Given the description of an element on the screen output the (x, y) to click on. 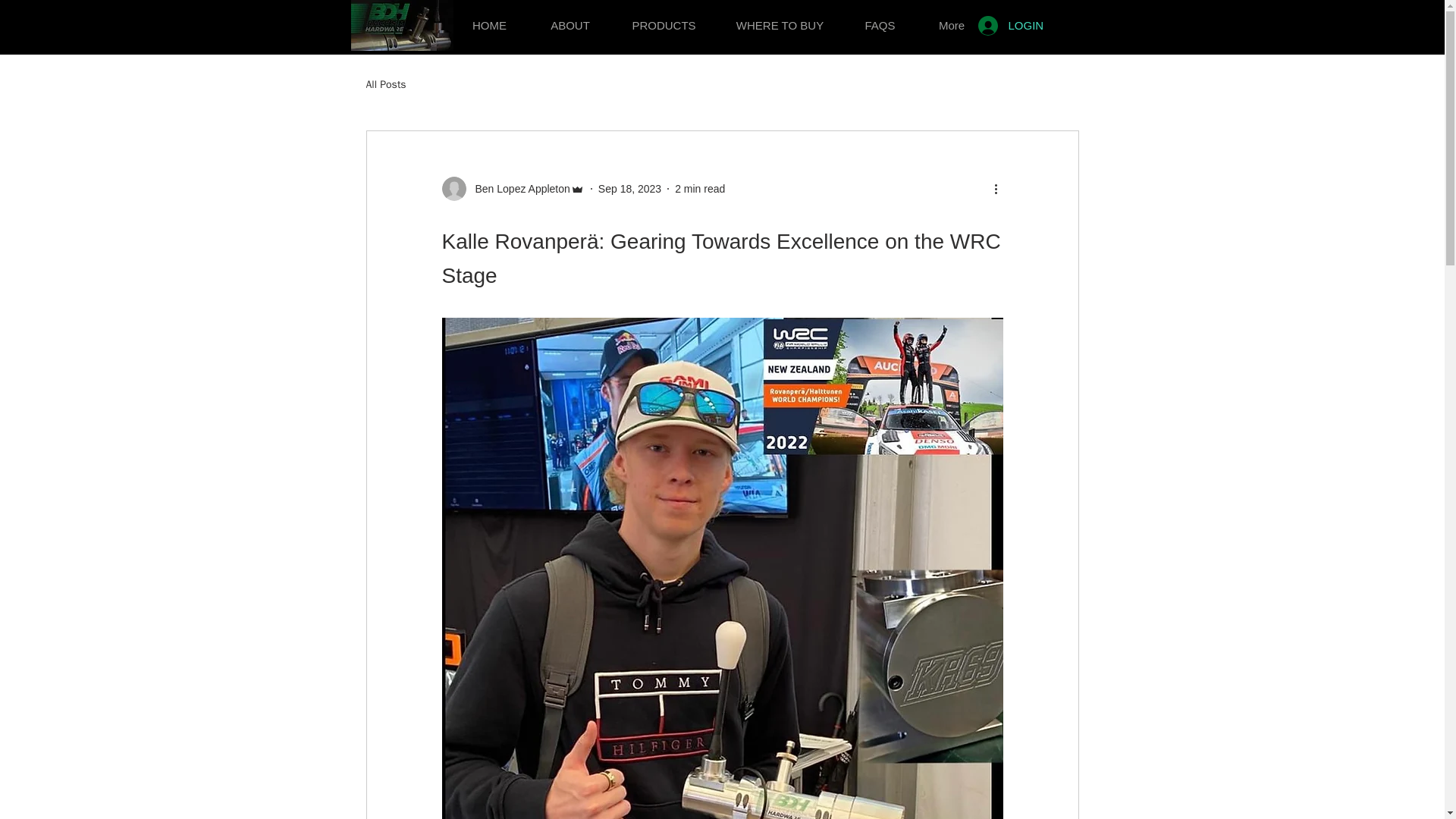
WHERE TO BUY (779, 18)
ABOUT (570, 18)
HOME (489, 18)
FAQS (879, 18)
Sep 18, 2023 (629, 187)
LOGIN (991, 24)
PRODUCTS (663, 18)
Ben Lopez Appleton (512, 188)
2 min read (700, 187)
All Posts (385, 84)
Ben Lopez Appleton (517, 188)
